Given the description of an element on the screen output the (x, y) to click on. 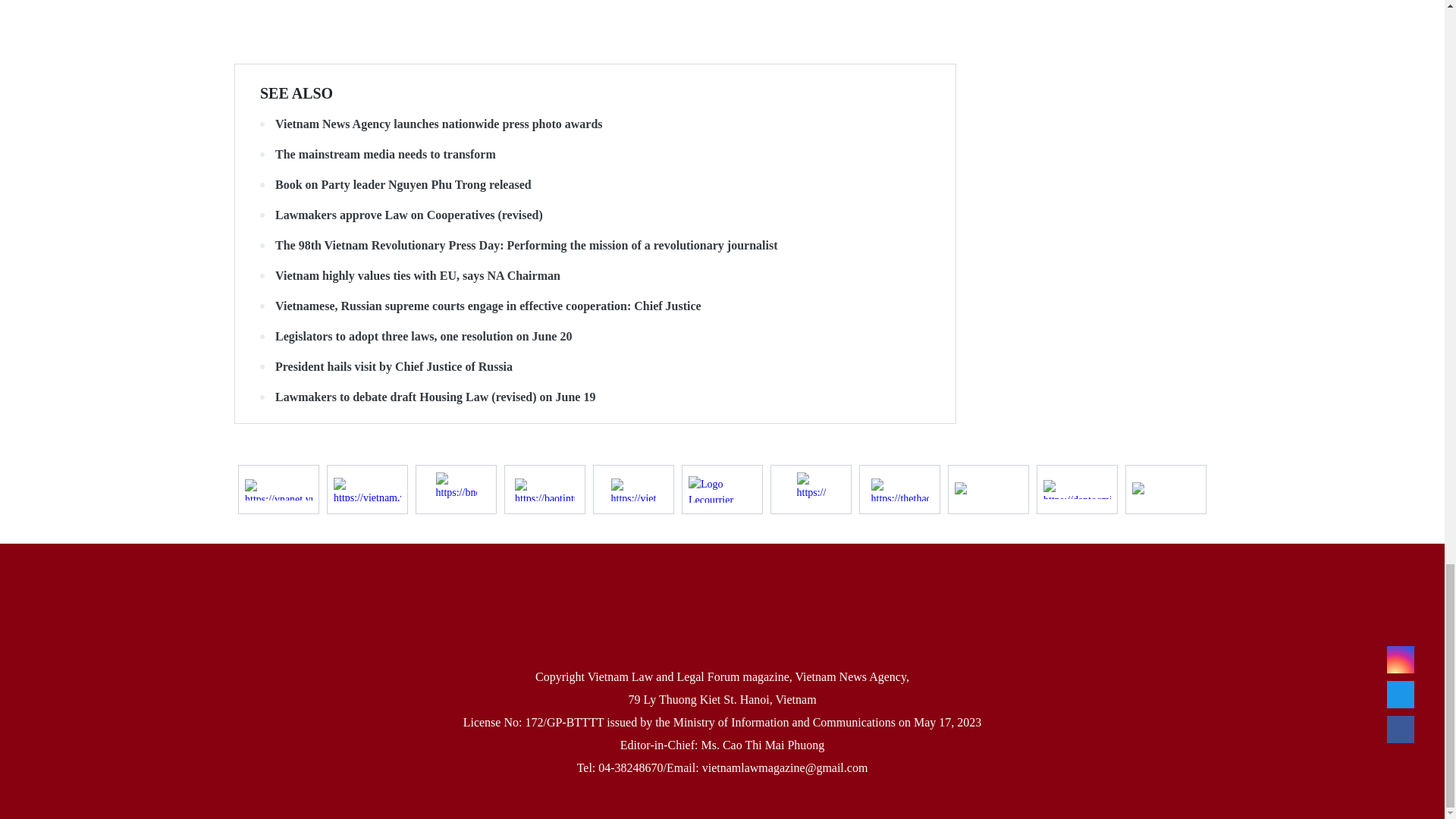
President hails visit by Chief Justice of Russia (595, 366)
Legislators to adopt three laws, one resolution on June 20 (595, 336)
The mainstream media needs to transform (595, 154)
Vietnam News Agency launches nationwide press photo awards (595, 124)
Vietnam highly values ties with EU, says NA Chairman (595, 275)
Book on Party leader Nguyen Phu Trong released (595, 184)
SEE ALSO (296, 93)
